Given the description of an element on the screen output the (x, y) to click on. 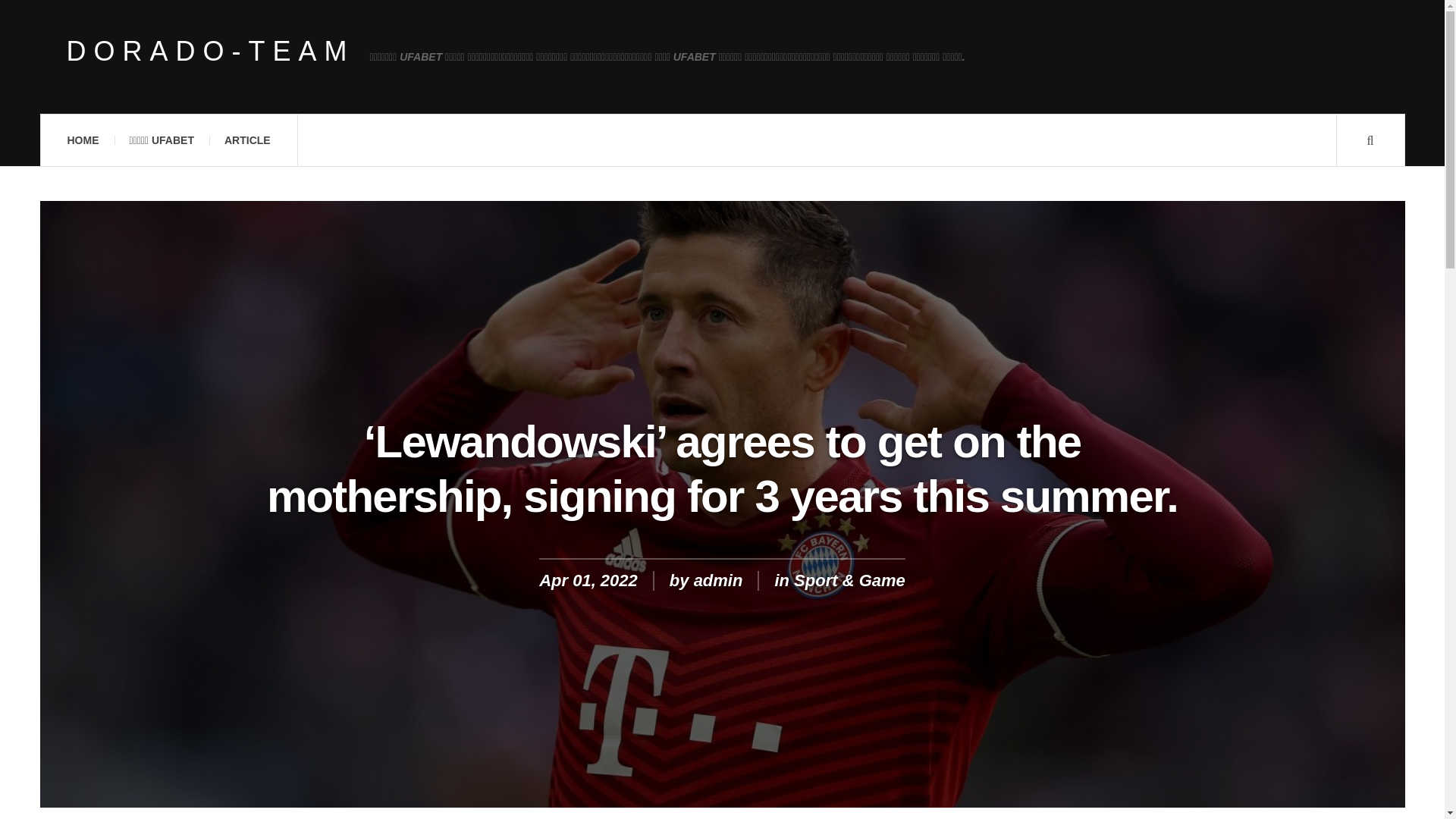
ARTICLE (247, 140)
HOME (81, 140)
admin (718, 579)
DORADO-TEAM (210, 51)
dorado-team (210, 51)
